Given the description of an element on the screen output the (x, y) to click on. 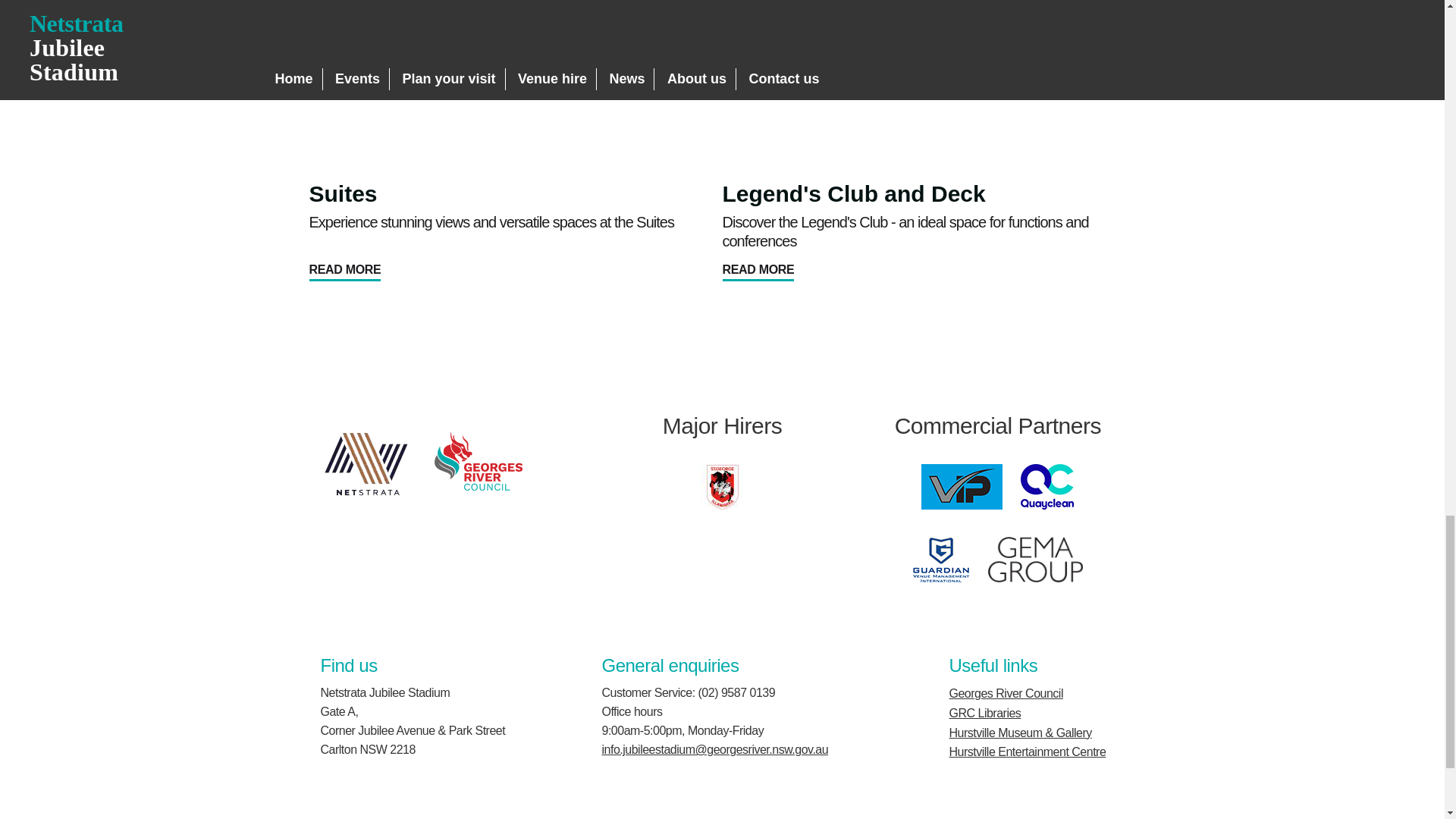
READ MORE (757, 269)
READ MORE (344, 269)
